Given the description of an element on the screen output the (x, y) to click on. 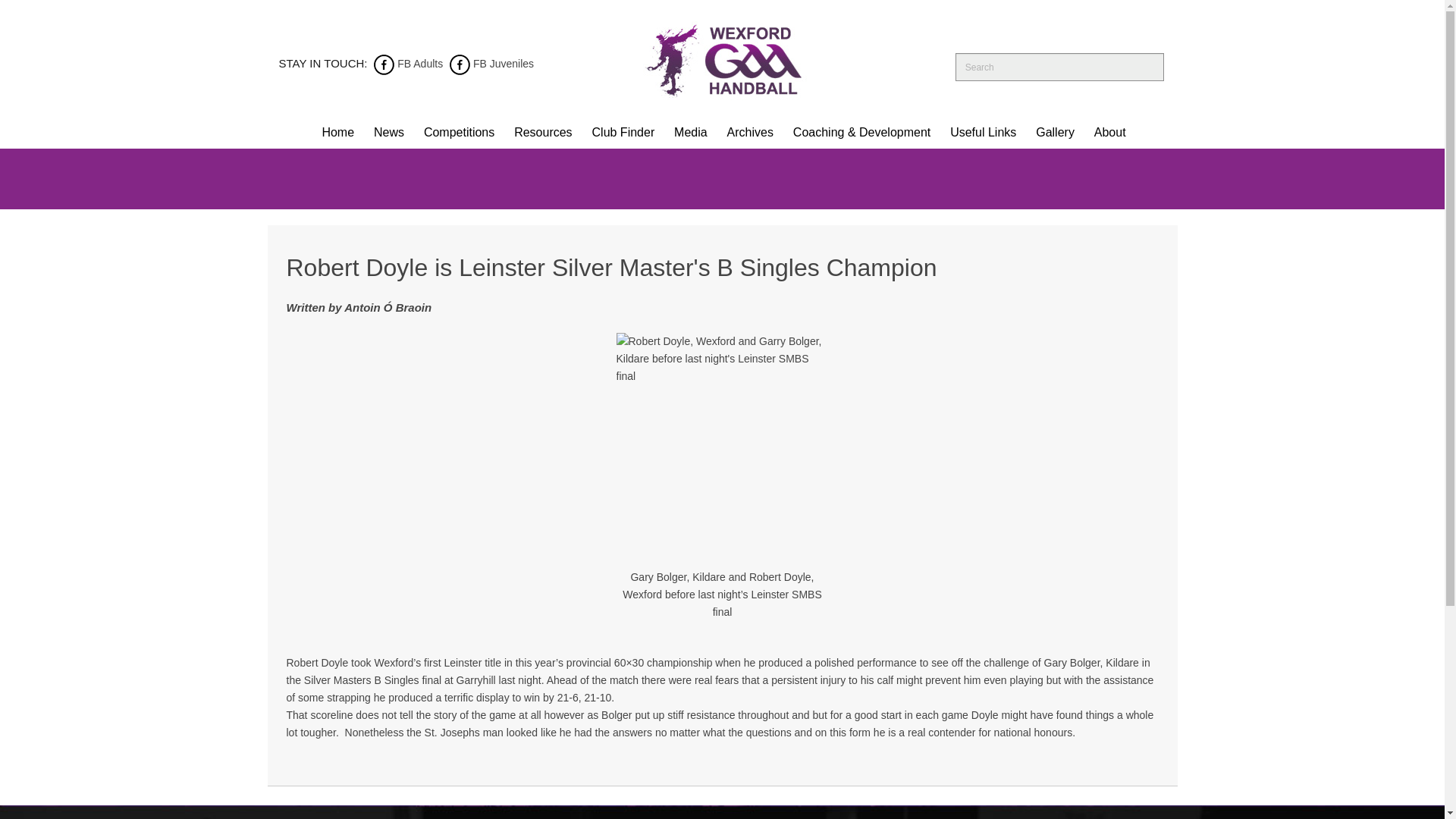
facebook-juveniles (459, 63)
Search (1144, 67)
News (388, 132)
Home (337, 132)
Search (1144, 67)
facebook-adults (384, 63)
Competitions (458, 132)
